Given the description of an element on the screen output the (x, y) to click on. 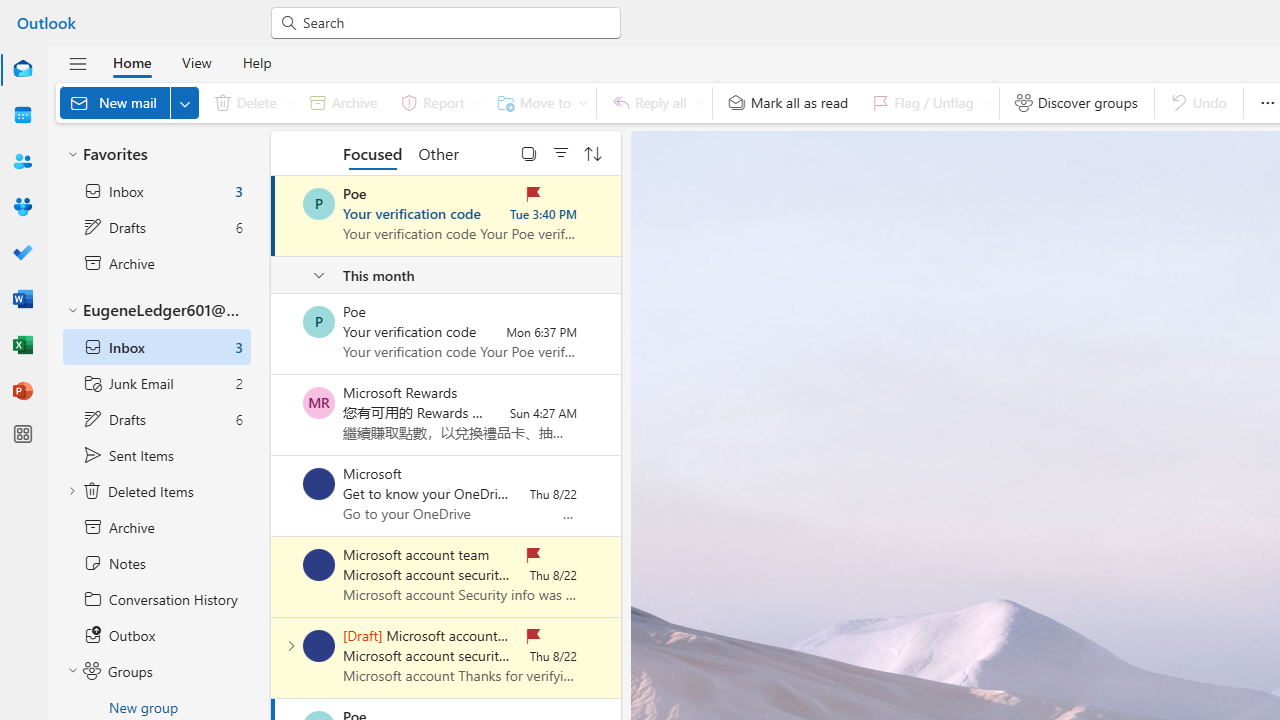
Groups (22, 207)
Microsoft (319, 483)
Other (438, 152)
Excel (22, 345)
Expand to see more New options (184, 102)
Word (22, 299)
Expand to see more report options (477, 102)
Filter (561, 152)
Focused (372, 152)
Mark as read (273, 215)
Flag / Unflag (927, 102)
PowerPoint (22, 391)
Hide navigation pane (77, 63)
